Given the description of an element on the screen output the (x, y) to click on. 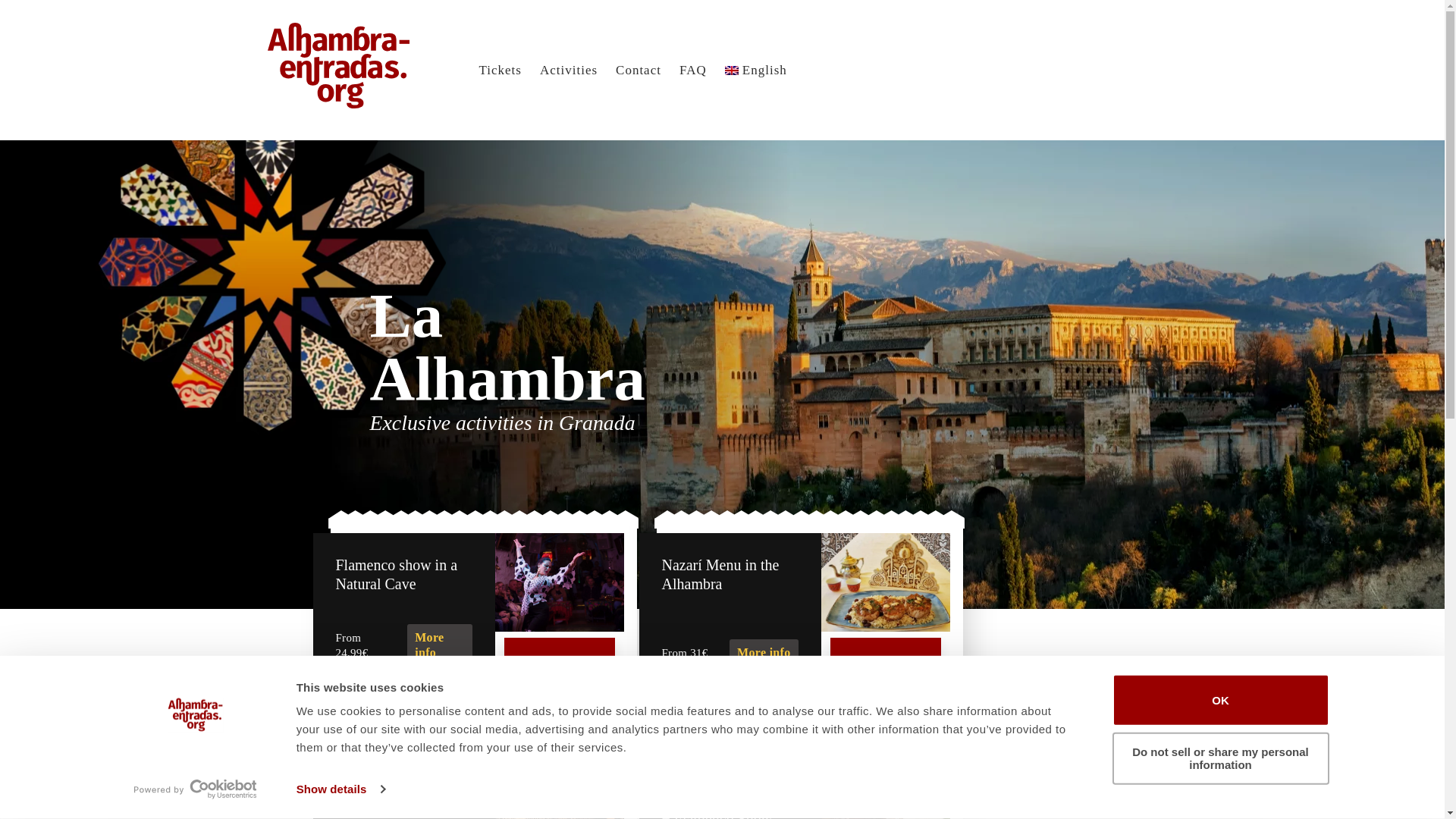
Show details (340, 789)
